Given the description of an element on the screen output the (x, y) to click on. 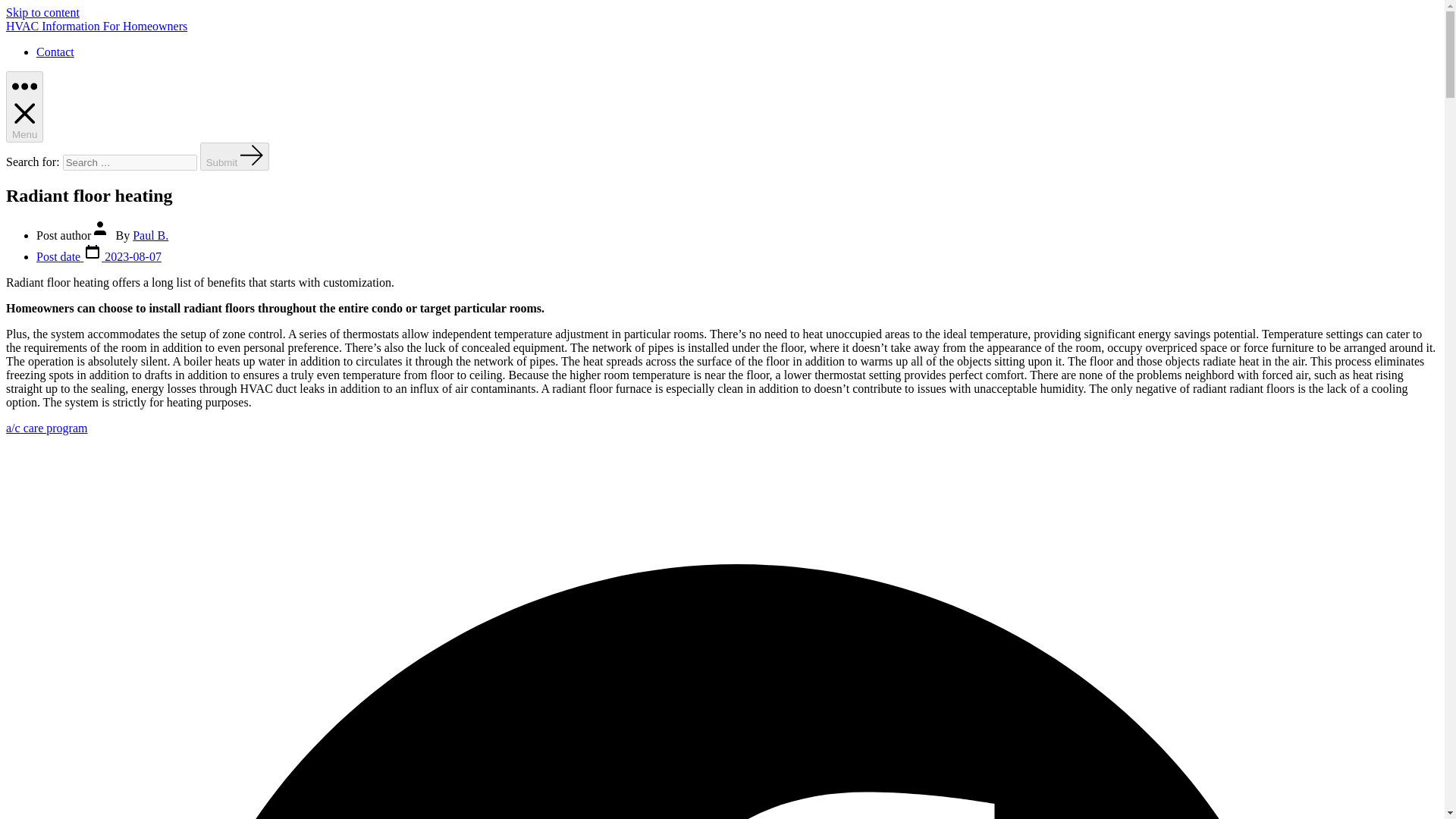
Paul B. (150, 235)
Submit (234, 156)
HVAC Information For Homeowners (96, 25)
Contact (55, 51)
Skip to content (42, 11)
Post date 2023-08-07 (98, 256)
